Given the description of an element on the screen output the (x, y) to click on. 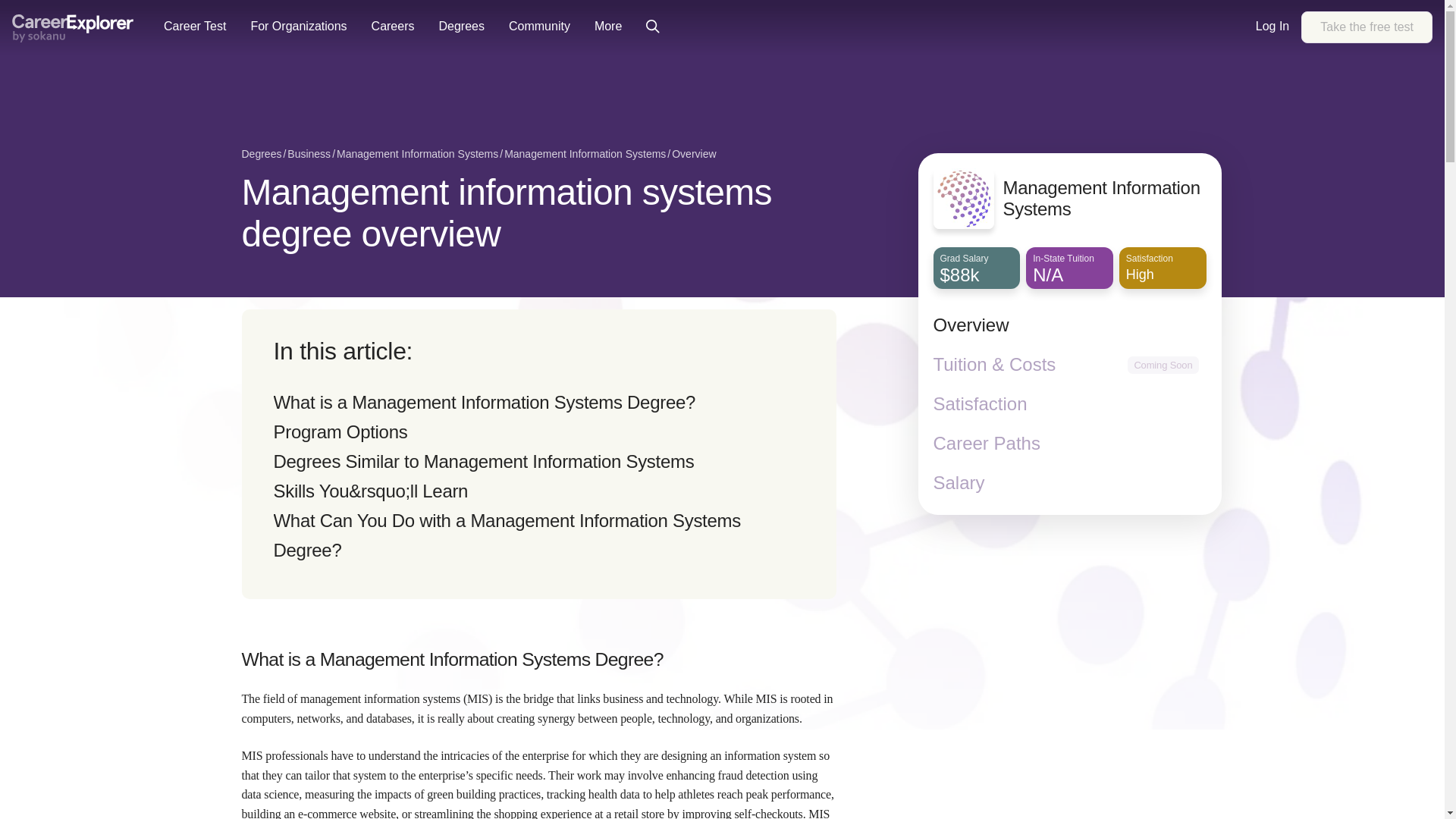
Career Test (194, 27)
CareerExplorer (72, 28)
Management Information Systems (584, 154)
Program Options (340, 431)
Overview (693, 154)
Community (539, 27)
CareerExplorer (72, 27)
Degrees (261, 154)
